Given the description of an element on the screen output the (x, y) to click on. 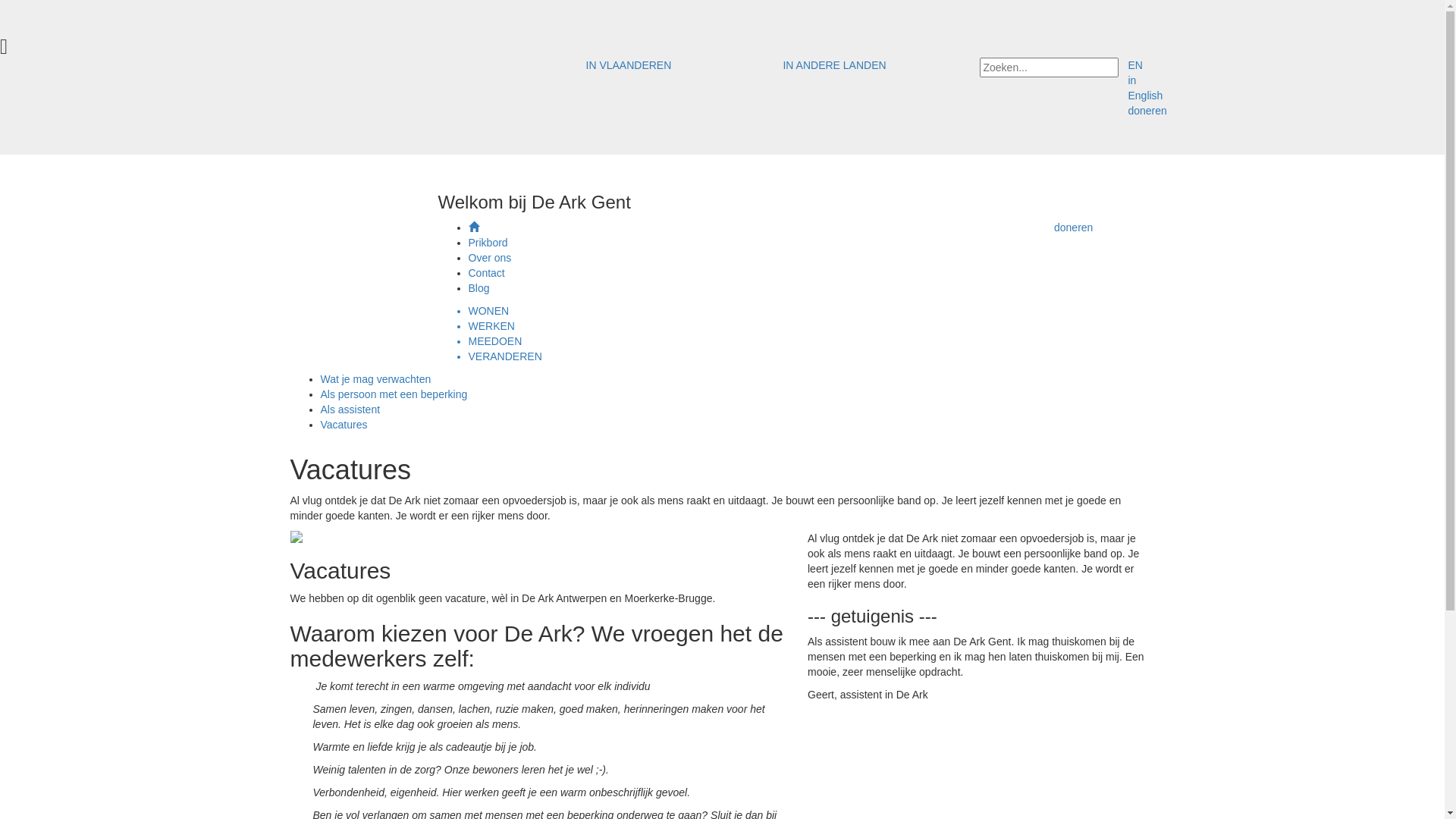
Wat je mag verwachten Element type: text (375, 379)
IN VLAANDEREN Element type: text (628, 65)
lees meer... Element type: text (993, 671)
Vacatures Element type: text (343, 424)
Blog Element type: text (478, 288)
EN Element type: text (1134, 65)
MEEDOEN Element type: text (811, 340)
Prikbord Element type: text (488, 242)
WONEN Element type: text (811, 310)
IN ANDERE LANDEN Element type: text (833, 65)
WERKEN Element type: text (811, 325)
Over ons Element type: text (489, 257)
Zoeken Element type: text (23, 9)
in English Element type: text (1144, 87)
Als assistent Element type: text (349, 409)
doneren Element type: text (1146, 110)
VERANDEREN Element type: text (811, 356)
Contact Element type: text (486, 272)
Als persoon met een beperking Element type: text (393, 394)
doneren Element type: text (1073, 227)
